Given the description of an element on the screen output the (x, y) to click on. 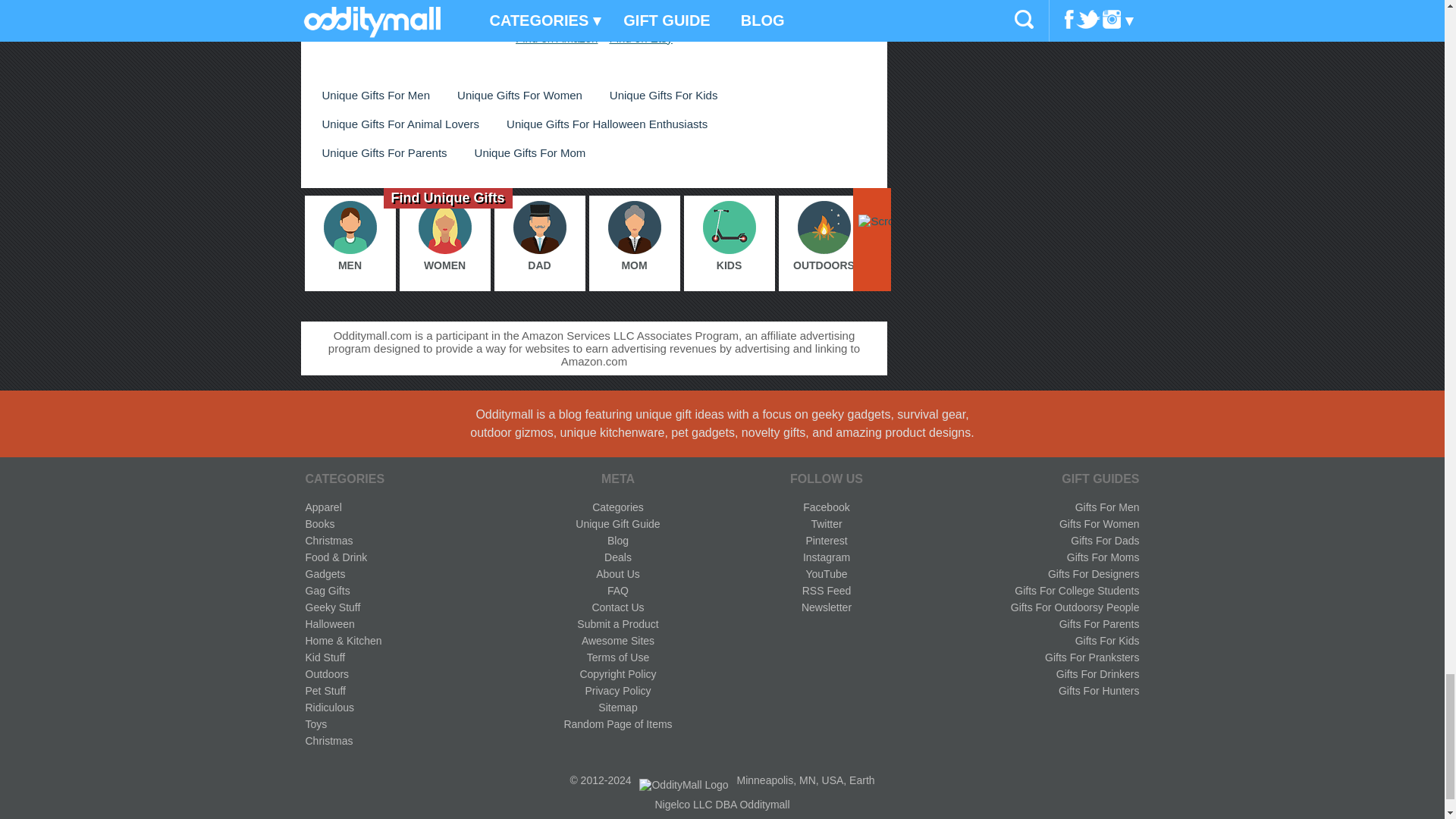
Unique Gifts For Women (519, 95)
Unique Gifts For Kids (663, 95)
Unique Gifts For Women (519, 95)
Unique Gifts For Animal Lovers (399, 123)
Unique Gifts For Halloween Enthusiasts (606, 123)
Find on Etsy (639, 38)
Unique Gifts For Parents (383, 152)
Find on Amazon (555, 38)
Unique Gifts For Men (375, 95)
Unique Gifts For Mom (530, 152)
Unique Gifts For Men (375, 95)
